Given the description of an element on the screen output the (x, y) to click on. 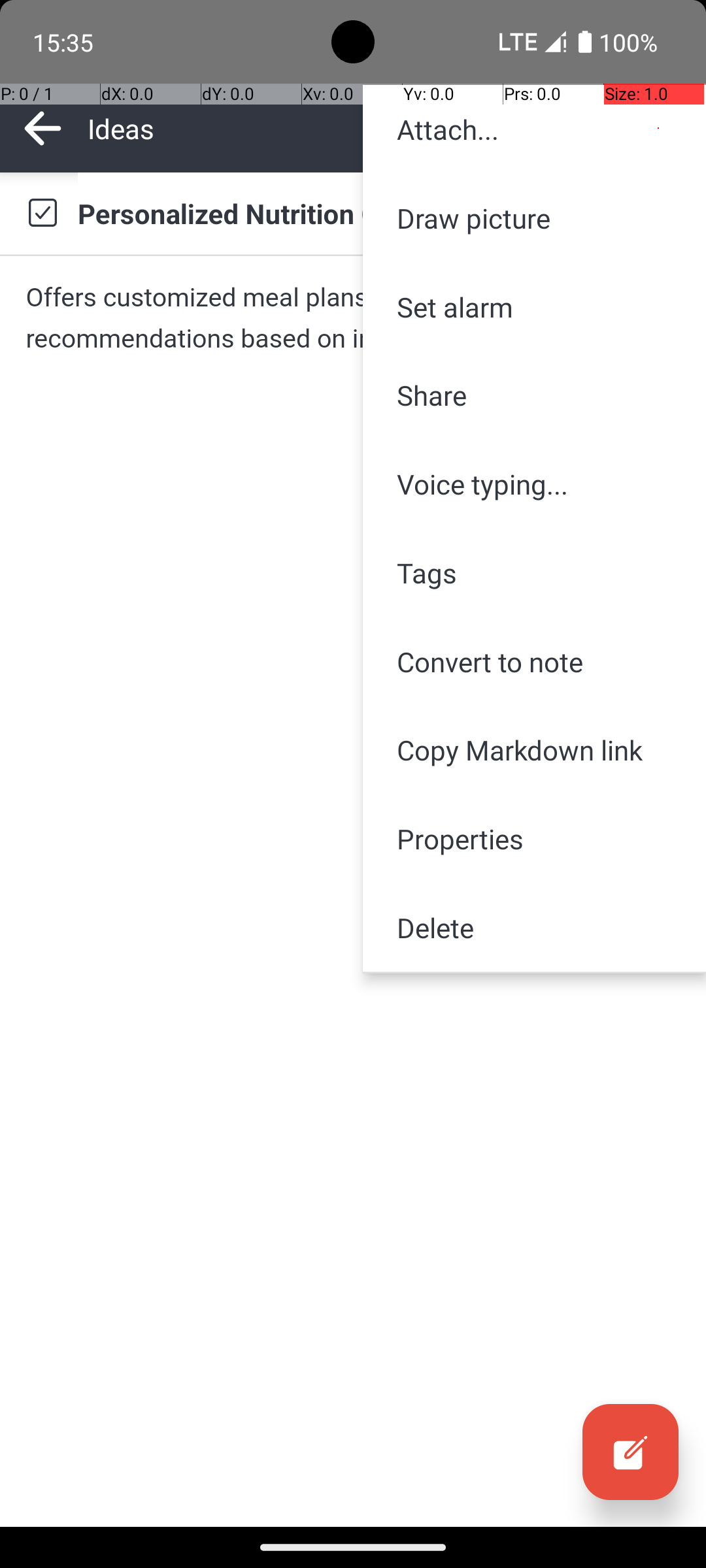
Personalized Nutrition Coaching App Element type: android.widget.EditText (378, 213)
Attach... Element type: android.widget.TextView (534, 129)
Draw picture Element type: android.widget.TextView (534, 217)
Set alarm Element type: android.widget.TextView (534, 306)
Voice typing... Element type: android.widget.TextView (534, 484)
Convert to note Element type: android.widget.TextView (534, 661)
Copy Markdown link Element type: android.widget.TextView (534, 749)
Properties Element type: android.widget.TextView (534, 838)
Offers customized meal plans and fitness recommendations based on individual goals and needs. Element type: android.widget.TextView (352, 317)
